Given the description of an element on the screen output the (x, y) to click on. 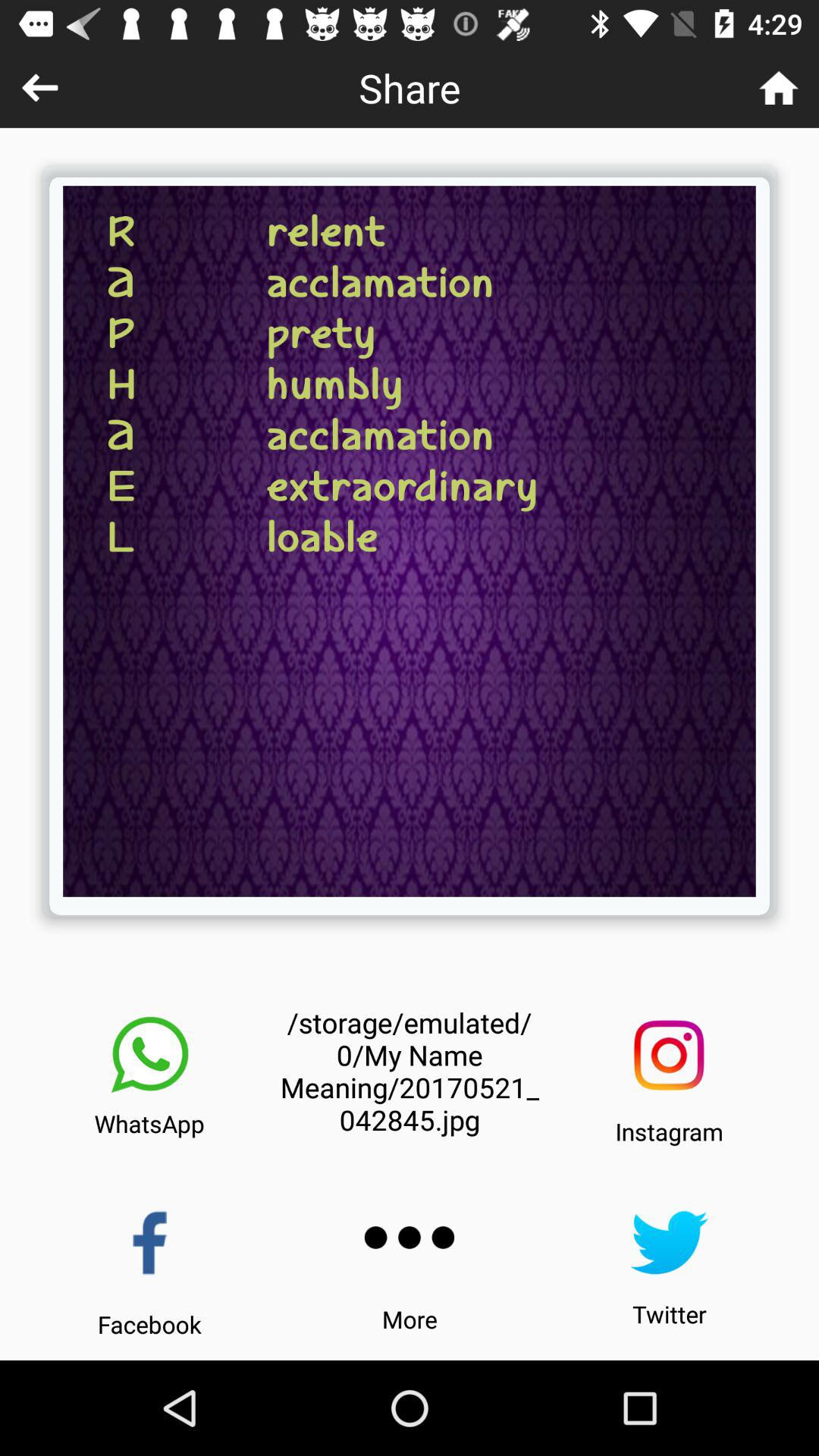
turn on the icon above facebook (149, 1242)
